Given the description of an element on the screen output the (x, y) to click on. 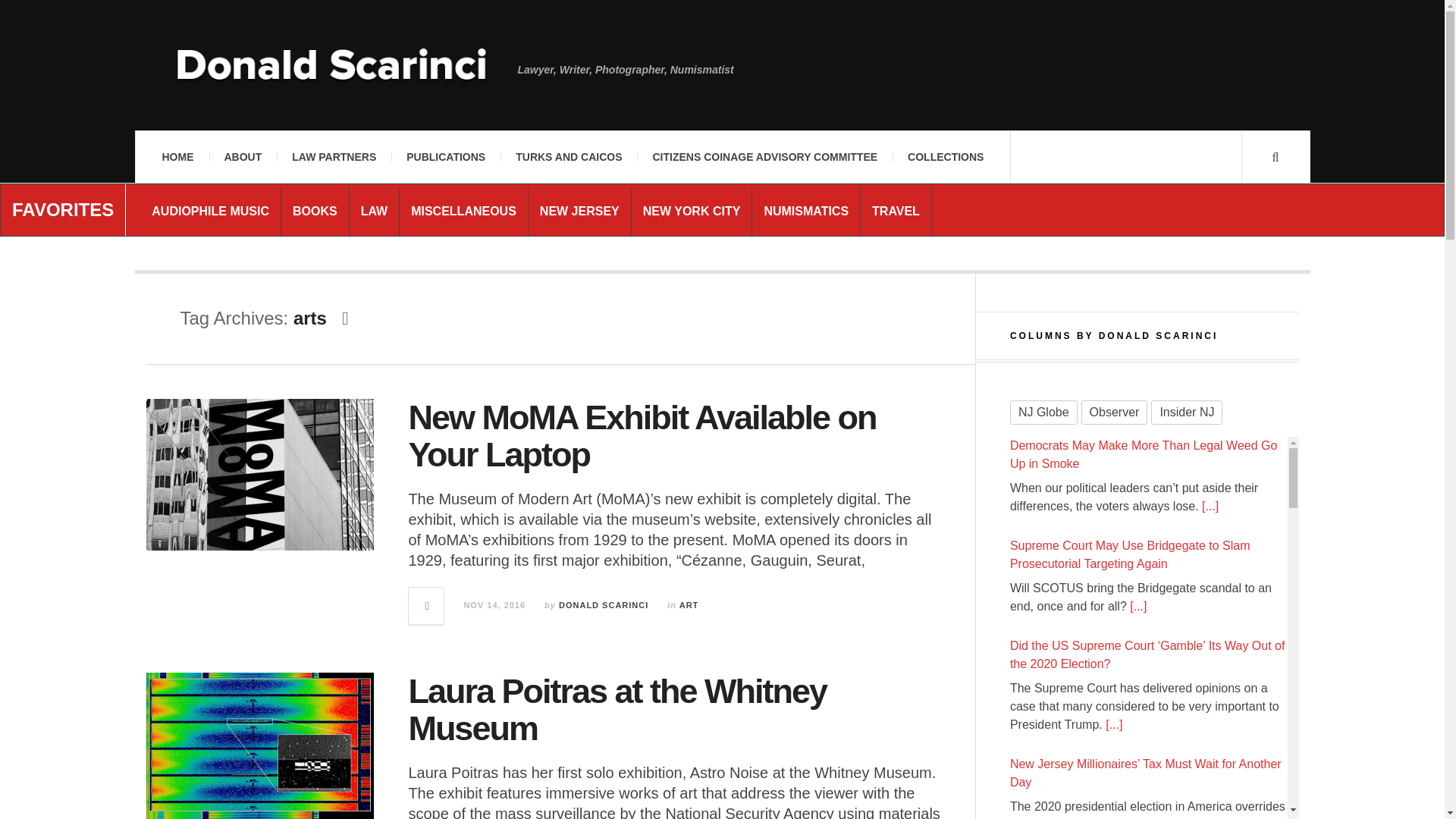
LAW (374, 210)
AUDIOPHILE MUSIC (210, 210)
CITIZENS COINAGE ADVISORY COMMITTEE (764, 156)
DONALD SCARINCI (603, 604)
LAW PARTNERS (333, 156)
NUMISMATICS (805, 210)
TRAVEL (896, 210)
Posts by Donald Scarinci (603, 604)
NEW YORK CITY (692, 210)
BOOKS (314, 210)
ART (688, 604)
NEW JERSEY (580, 210)
Donald Scarinci (331, 77)
COLLECTIONS (945, 156)
TURKS AND CAICOS (568, 156)
